Given the description of an element on the screen output the (x, y) to click on. 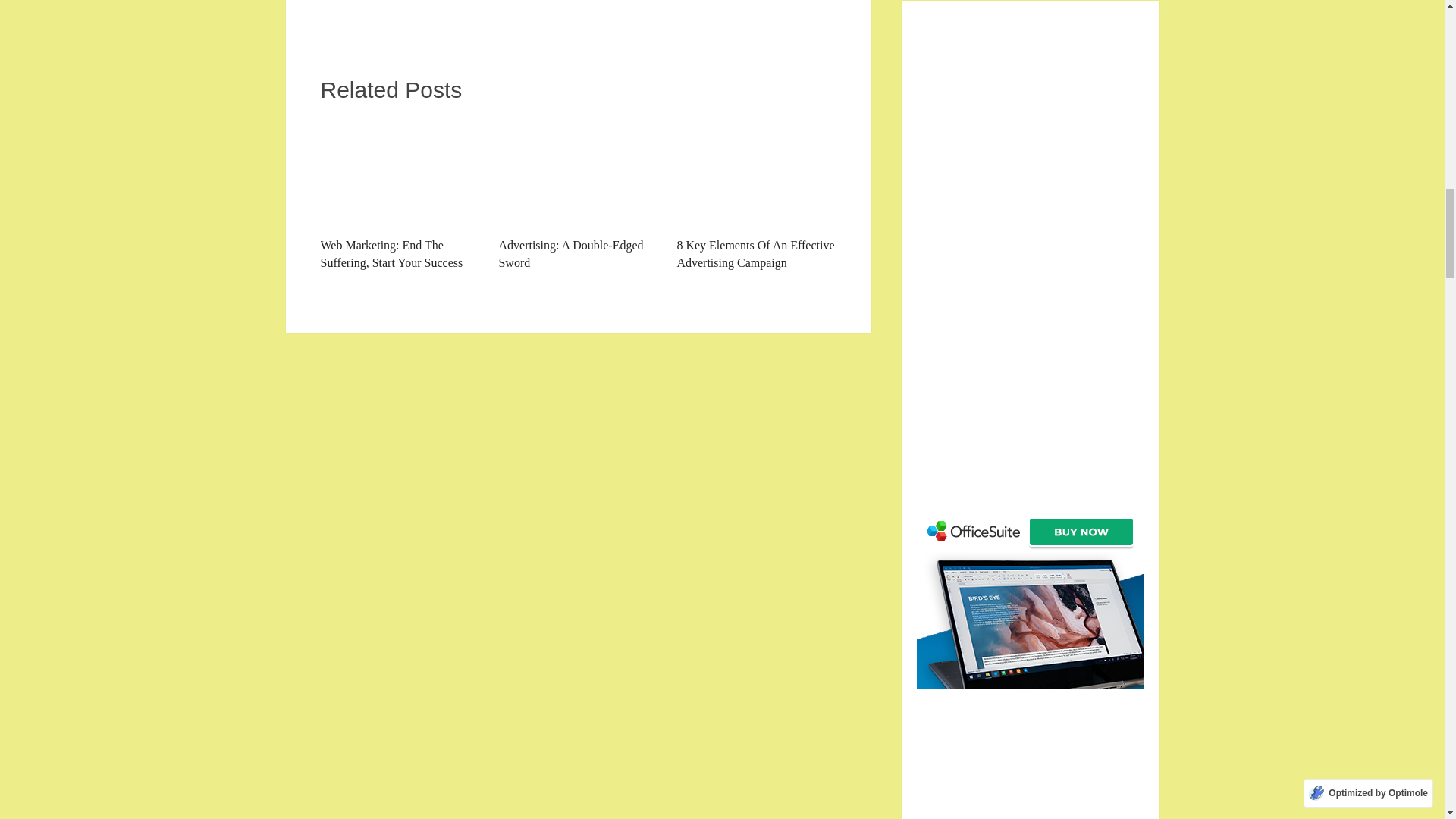
8 Key Elements Of An Effective Advertising Campaign (756, 193)
Advertising: A Double-Edged Sword (577, 172)
8 Key Elements Of An Effective Advertising Campaign (756, 193)
8 Key Elements Of An Effective Advertising Campaign (756, 172)
Web Marketing: End The Suffering, Start Your Success (399, 193)
Advertising: A Double-Edged Sword (577, 193)
Web Marketing: End The Suffering, Start Your Success (399, 172)
Web Marketing: End The Suffering, Start Your Success (399, 193)
YouTube video player (532, 7)
Advertising: A Double-Edged Sword (577, 193)
